Given the description of an element on the screen output the (x, y) to click on. 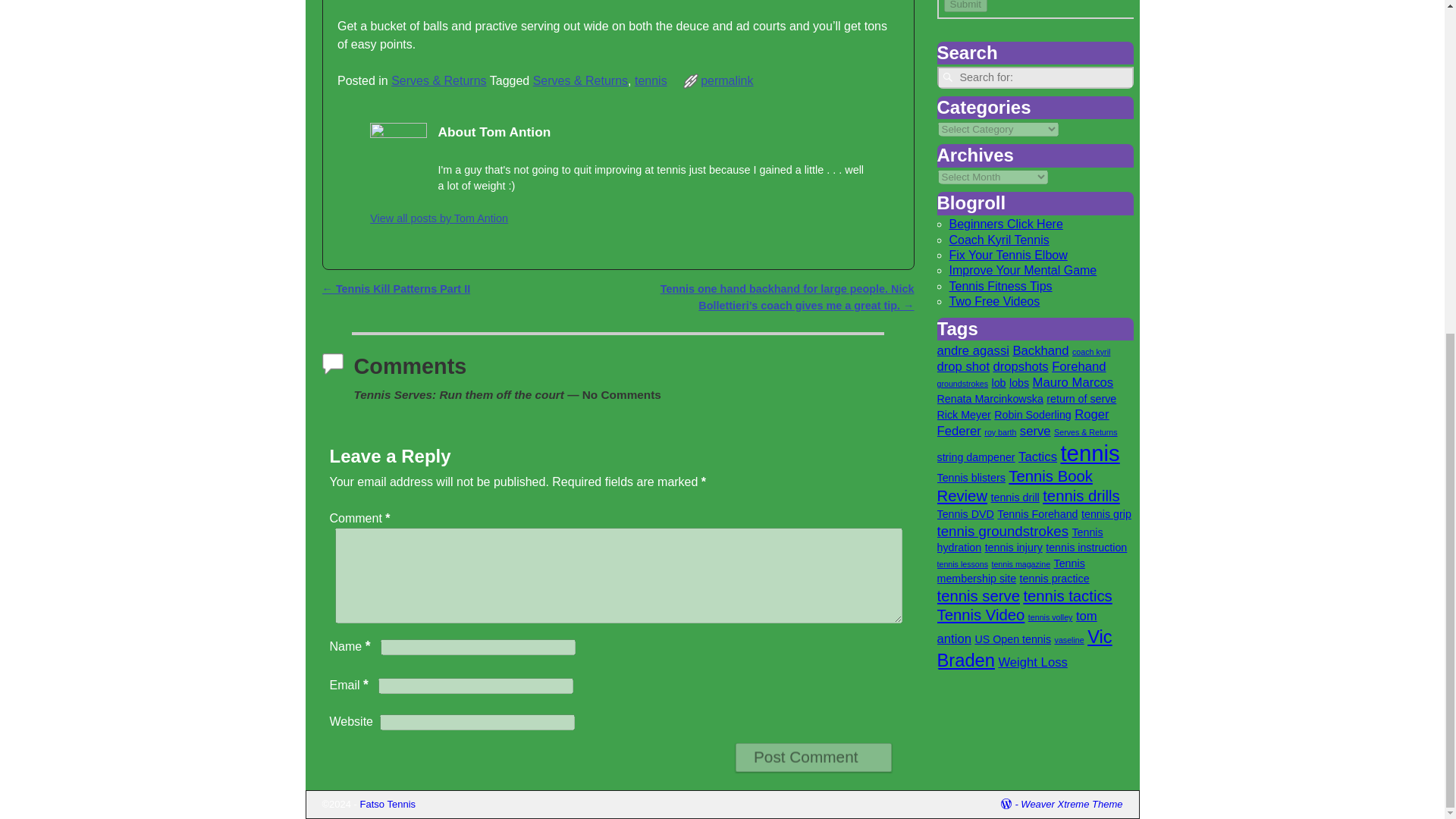
lobs (1019, 382)
Fix Your Tennis Elbow (1008, 254)
Weaver Xtreme Theme (1071, 803)
View all posts by Tom Antion (438, 218)
Submit (965, 6)
Improve Your Mental Game (1023, 269)
Backhand (1039, 350)
Mauro Marcos (1072, 382)
groundstrokes (962, 383)
drop shot (963, 366)
